Given the description of an element on the screen output the (x, y) to click on. 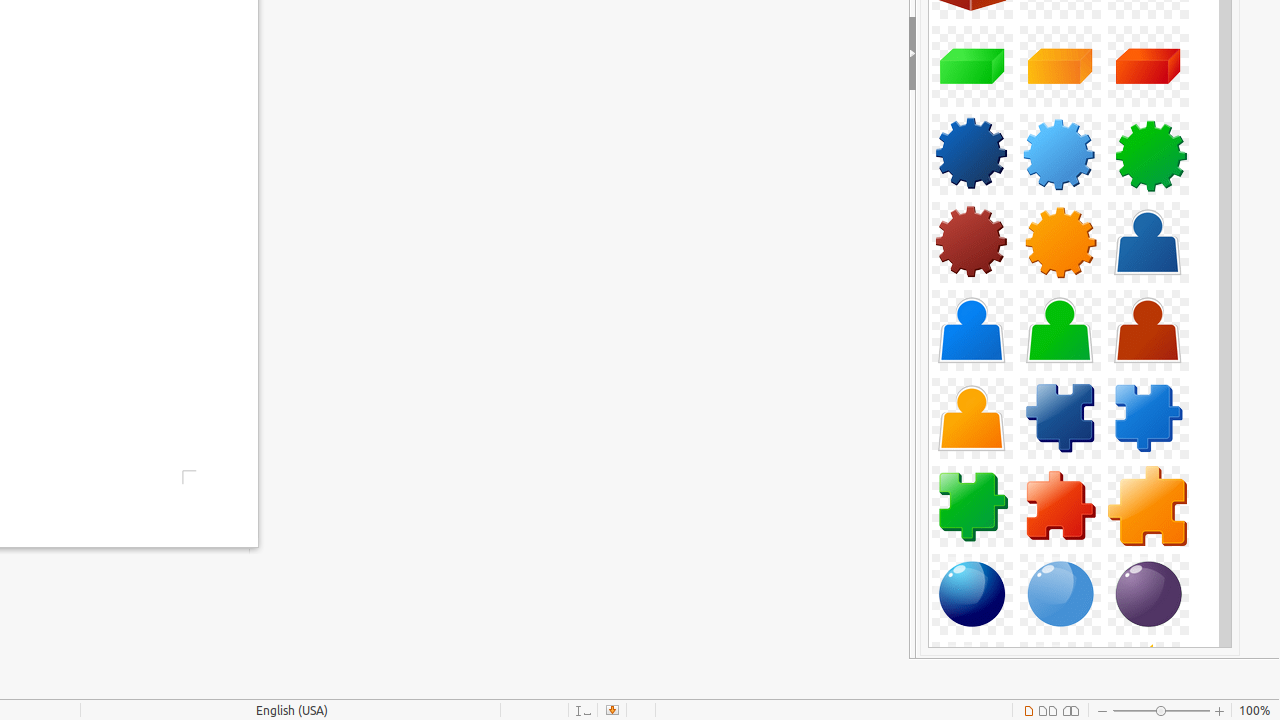
Component-Gear04-DarkRed Element type: list-item (972, 242)
Component-Person03-Green Element type: list-item (1060, 330)
Component-PuzzlePiece04-Red Element type: list-item (1060, 506)
Component-Person02-Blue Element type: list-item (972, 330)
Component-PuzzlePiece03-Green Element type: list-item (972, 506)
